Given the description of an element on the screen output the (x, y) to click on. 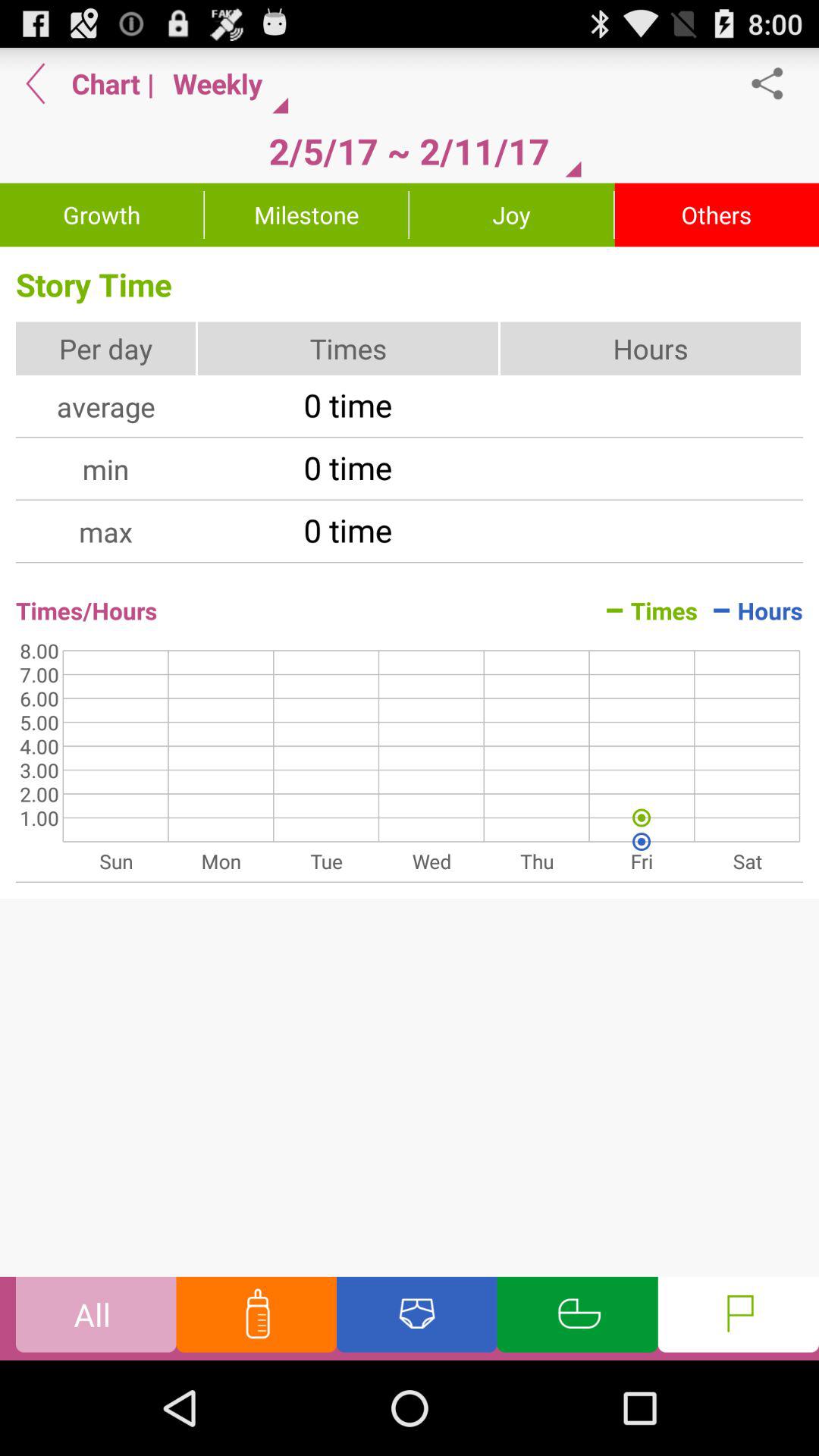
turn on the item below the weekly button (409, 151)
